Given the description of an element on the screen output the (x, y) to click on. 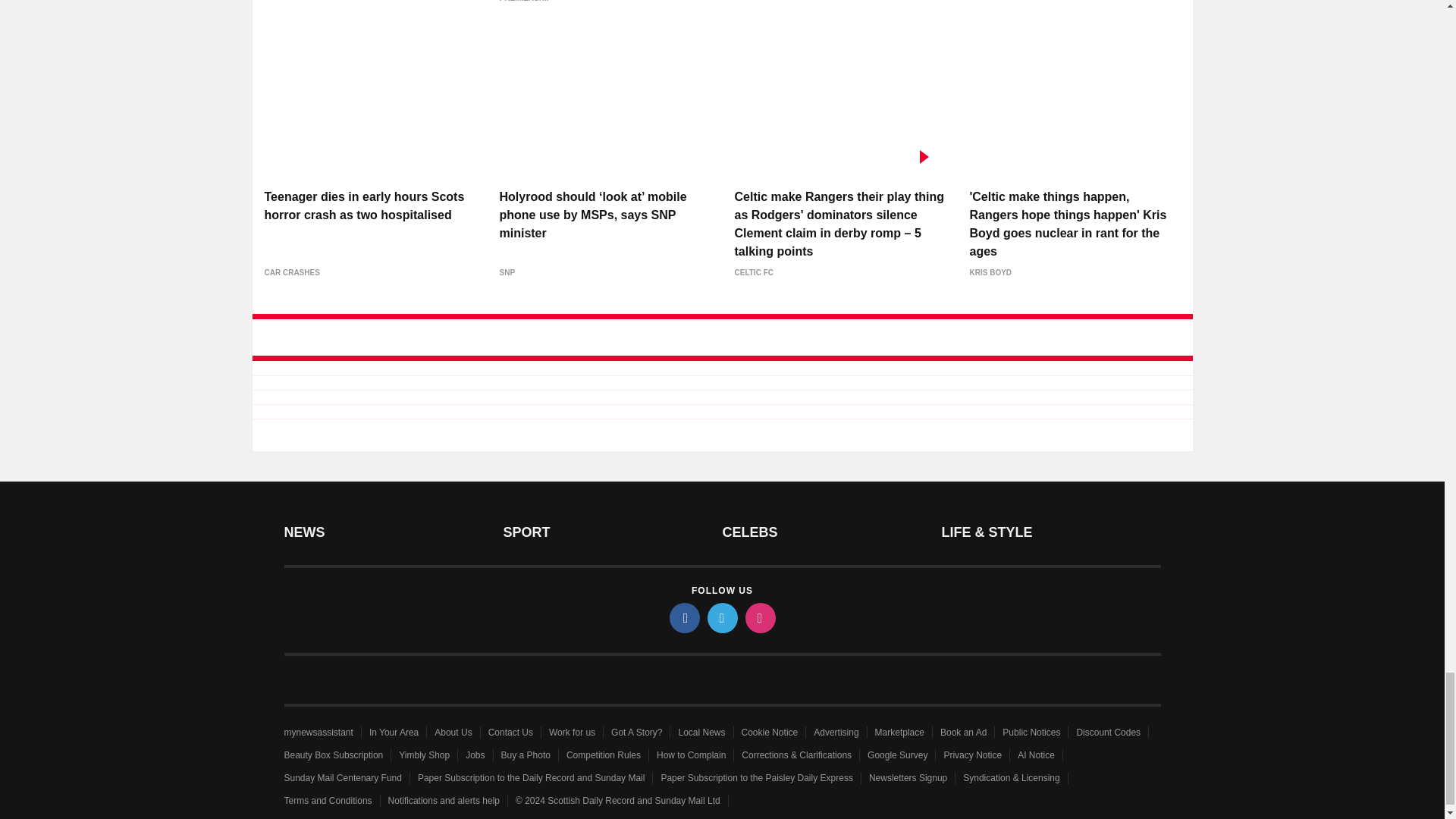
instagram (759, 617)
facebook (683, 617)
twitter (721, 617)
